Given the description of an element on the screen output the (x, y) to click on. 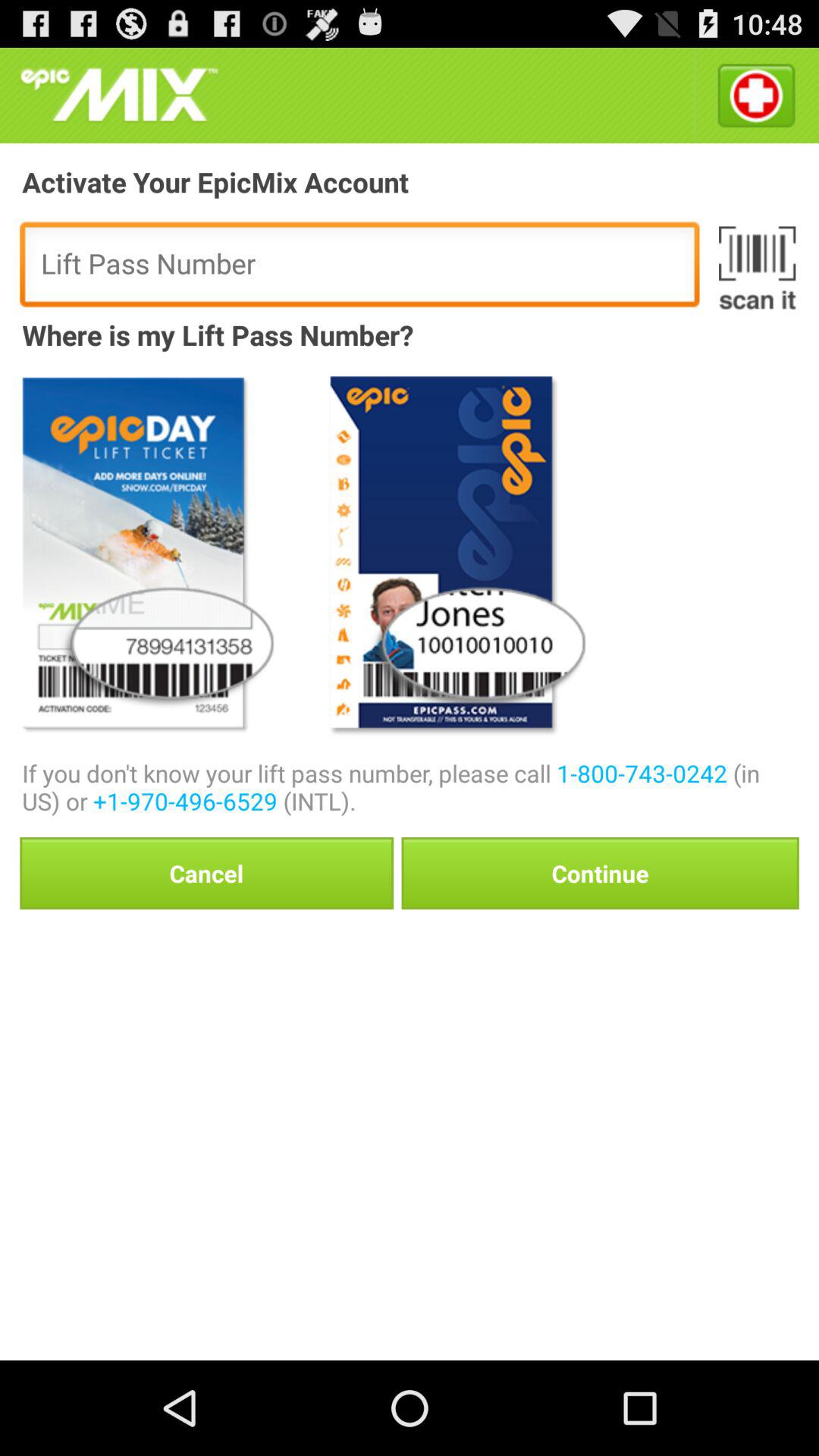
click item above the cancel button (410, 787)
